Given the description of an element on the screen output the (x, y) to click on. 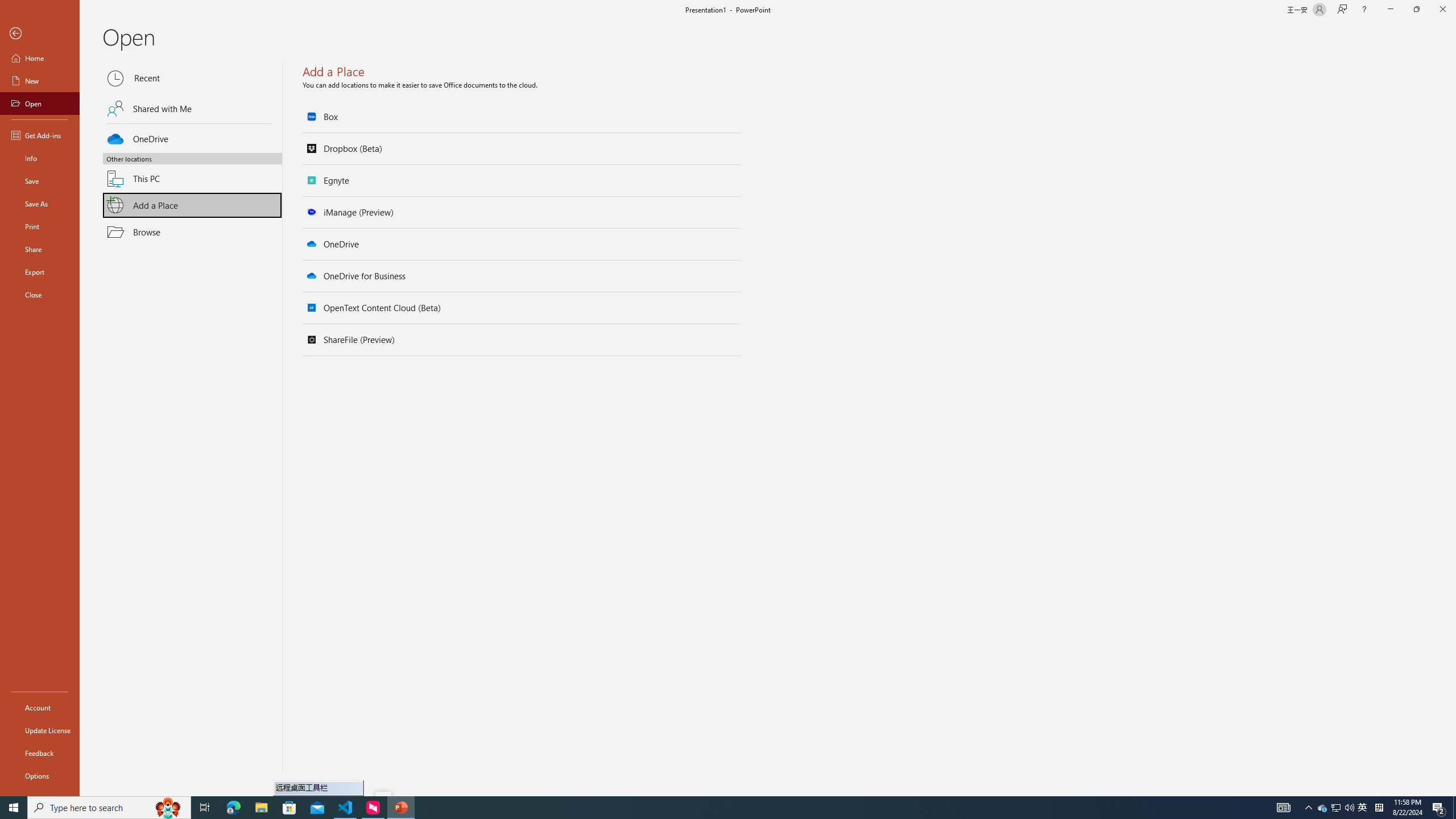
Back (40, 33)
OneDrive (192, 136)
Shared with Me (192, 108)
Dropbox (Beta) (521, 148)
Save As (40, 203)
Update License (40, 730)
Print (40, 225)
Feedback (40, 753)
